Given the description of an element on the screen output the (x, y) to click on. 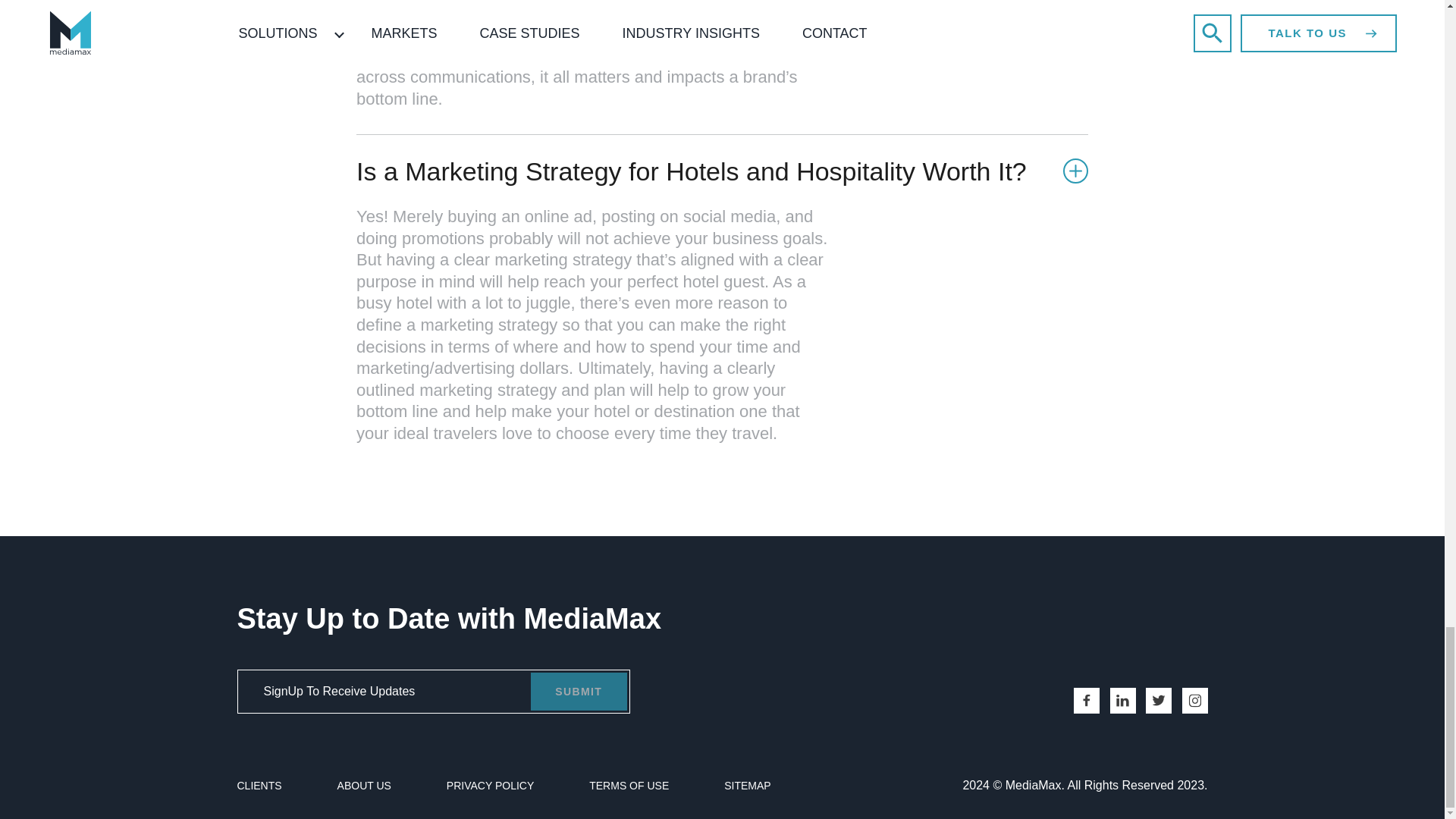
PRIVACY POLICY (490, 785)
Is a Marketing Strategy for Hotels and Hospitality Worth It? (721, 171)
ABOUT US (364, 785)
SUBMIT (578, 691)
CLIENTS (258, 785)
TERMS OF USE (628, 785)
